Given the description of an element on the screen output the (x, y) to click on. 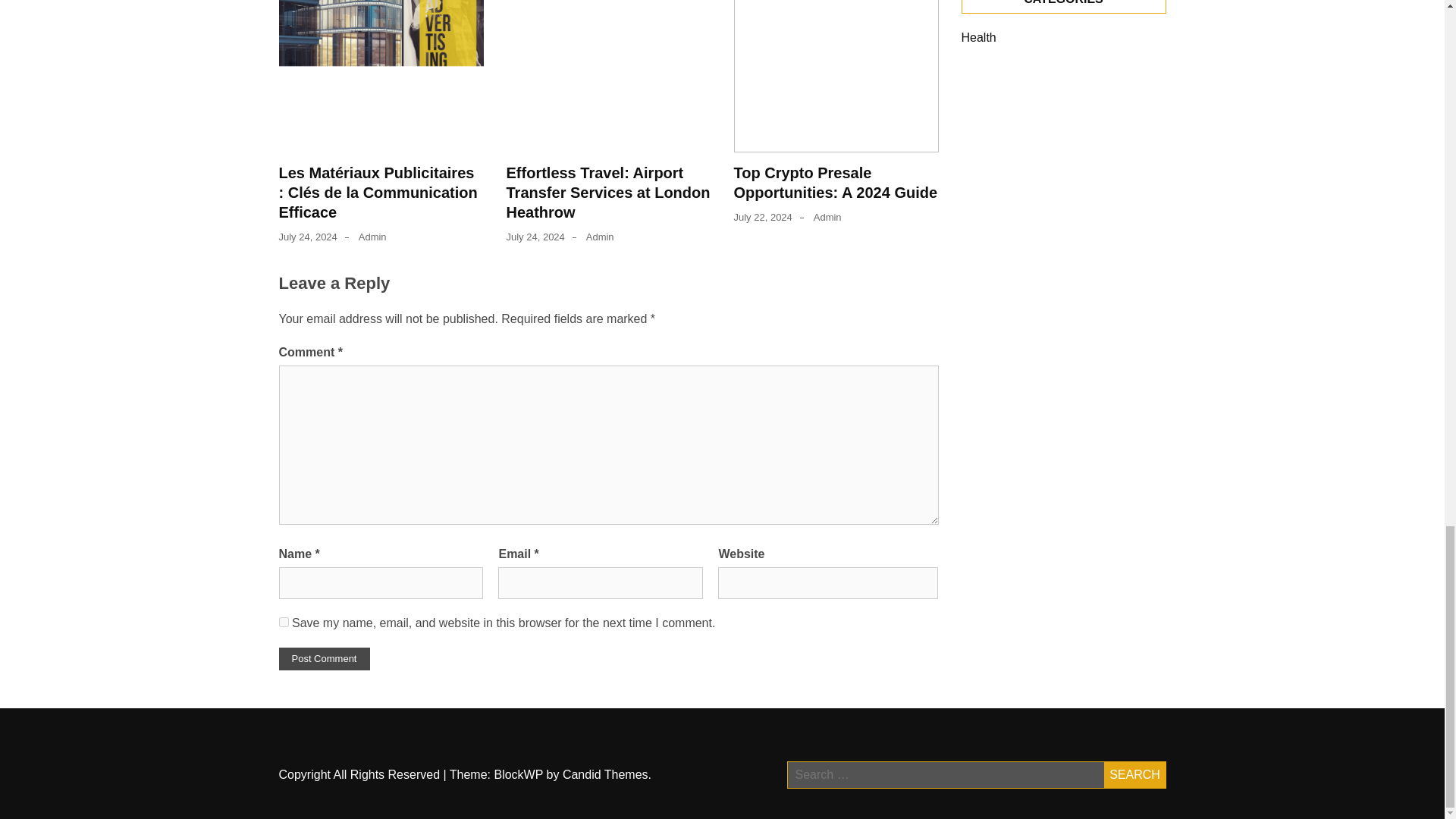
yes (283, 622)
Search (1134, 774)
Search (1134, 774)
Admin (600, 236)
July 24, 2024 (535, 236)
Admin (372, 236)
July 22, 2024 (762, 216)
Top Crypto Presale Opportunities: A 2024 Guide (835, 182)
Post Comment (324, 658)
July 24, 2024 (308, 236)
